Given the description of an element on the screen output the (x, y) to click on. 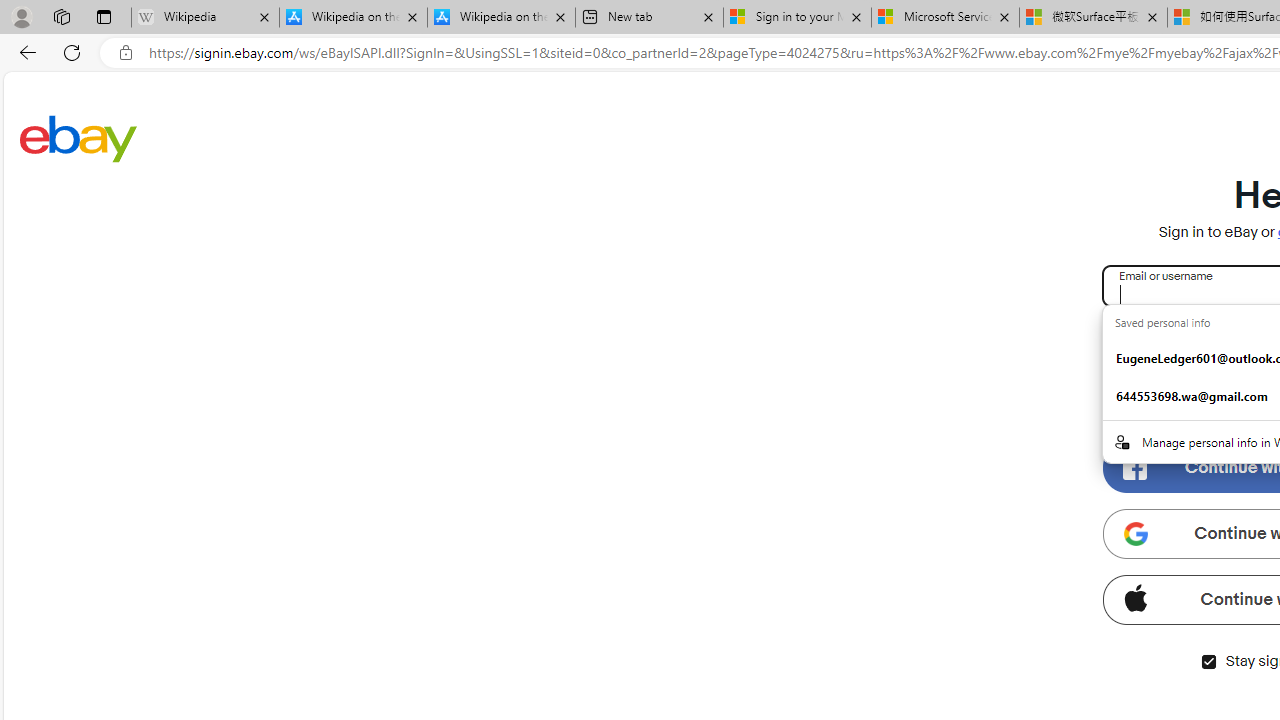
eBay Home (78, 138)
Sign in to your Microsoft account (797, 17)
Wikipedia - Sleeping (205, 17)
Microsoft Services Agreement (944, 17)
eBay Home (78, 138)
Class: ggl-icon (1135, 533)
Stay signed in (1208, 661)
